Given the description of an element on the screen output the (x, y) to click on. 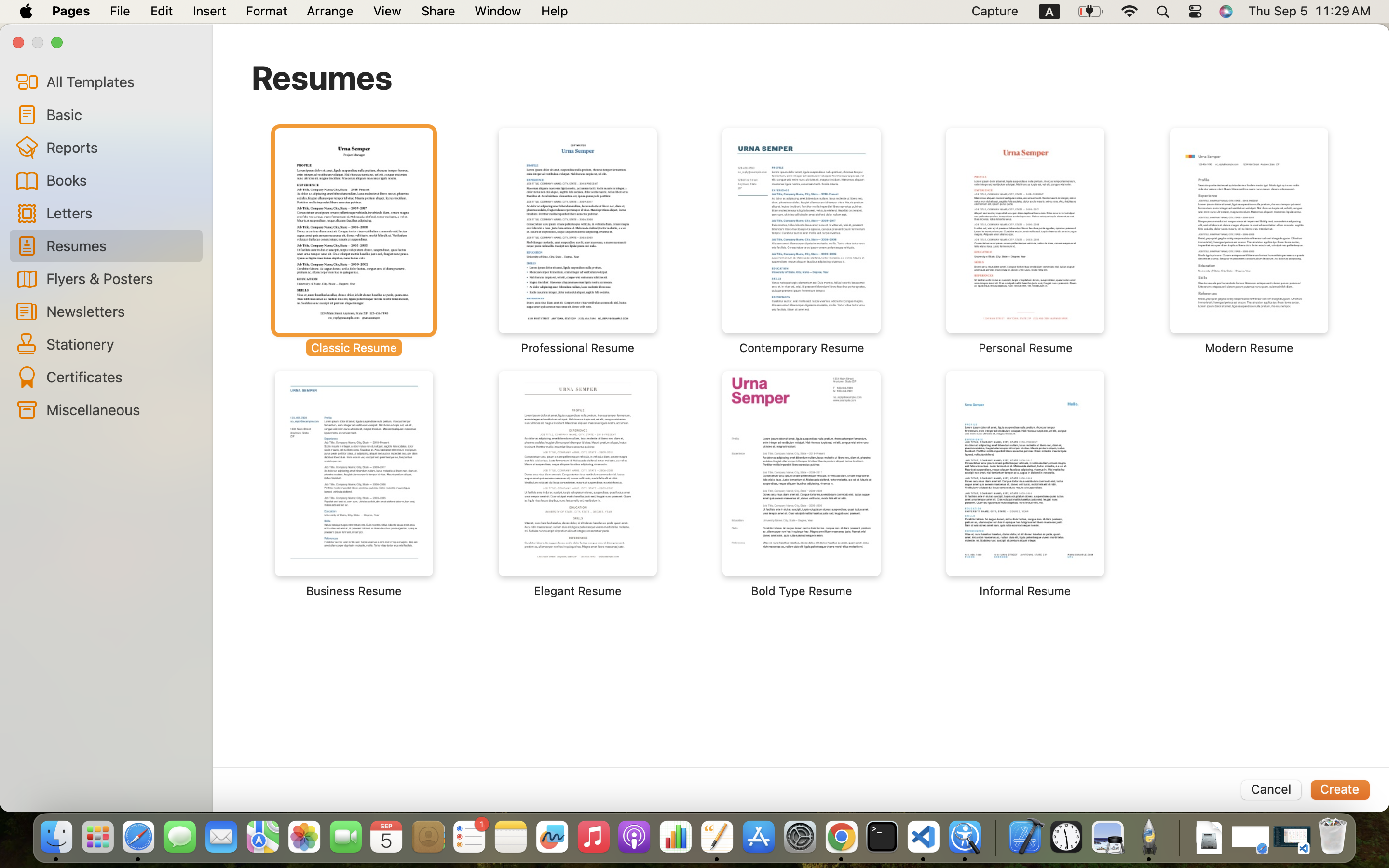
Books Element type: AXStaticText (120, 179)
Miscellaneous Element type: AXStaticText (120, 409)
Stationery Element type: AXStaticText (120, 343)
Certificates Element type: AXStaticText (120, 376)
Newsletters Element type: AXStaticText (120, 310)
